Given the description of an element on the screen output the (x, y) to click on. 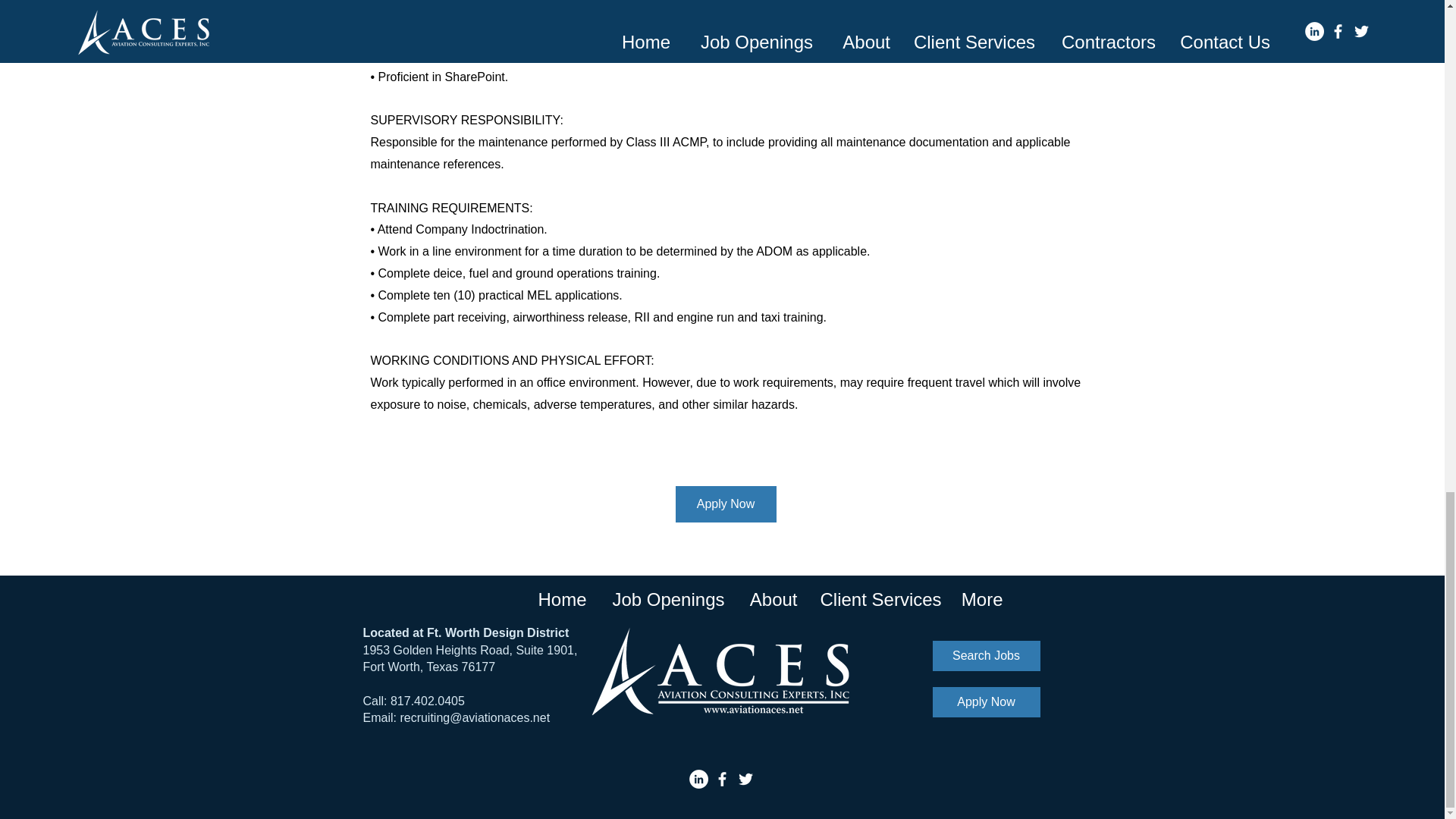
Apply Now (987, 702)
About (771, 599)
Apply Now (725, 504)
Home (560, 599)
Search Jobs (987, 655)
Client Services (878, 599)
Job Openings (665, 599)
